Given the description of an element on the screen output the (x, y) to click on. 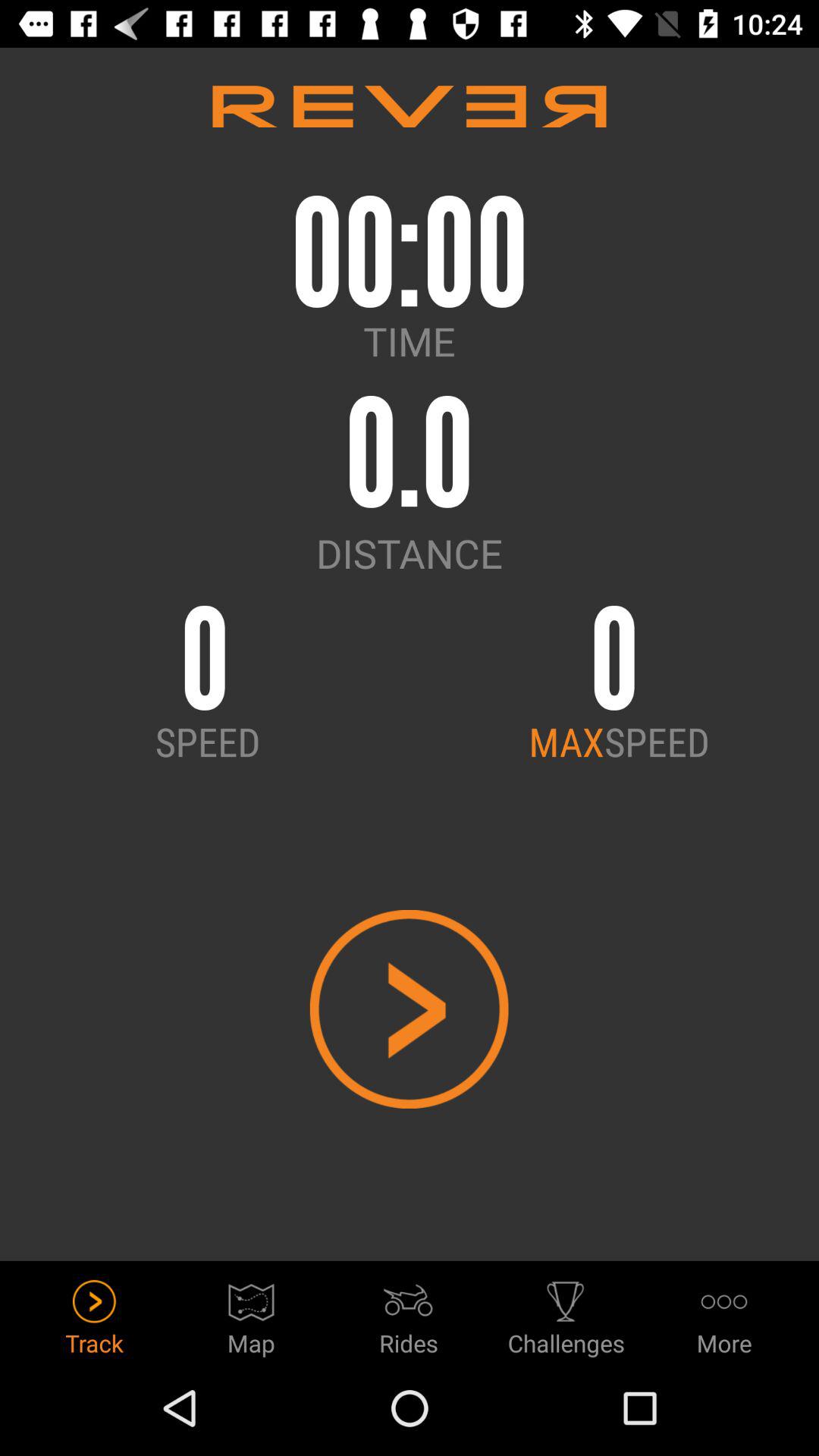
go back (408, 1008)
